Given the description of an element on the screen output the (x, y) to click on. 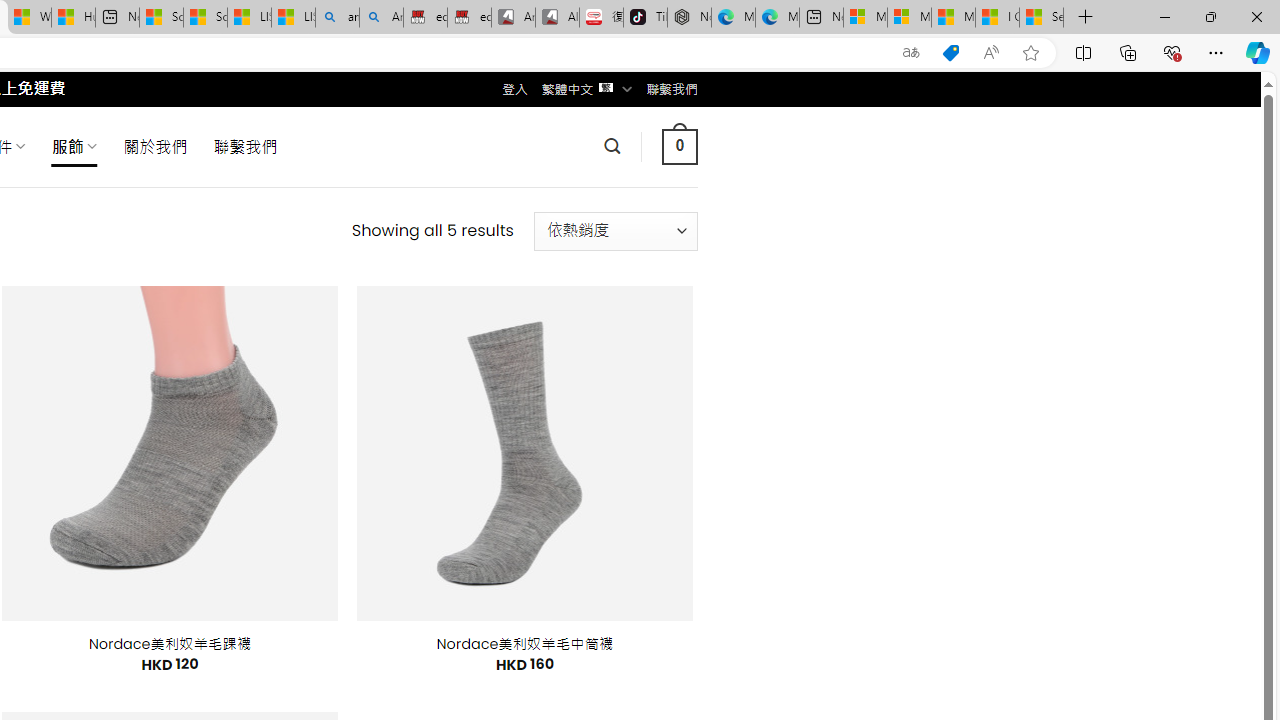
 0  (679, 146)
Microsoft account | Privacy (909, 17)
